Given the description of an element on the screen output the (x, y) to click on. 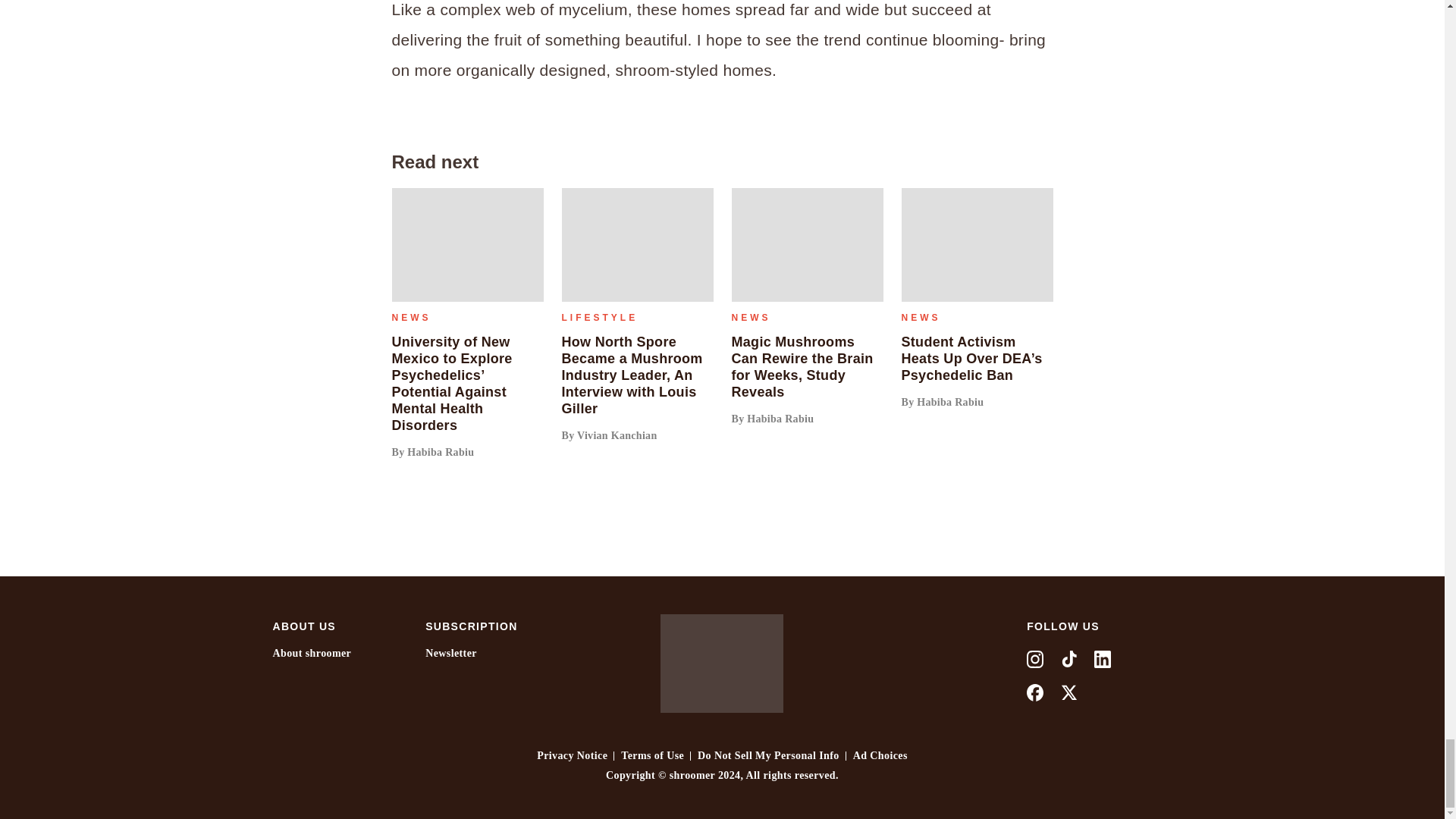
Follow us on Instagram (1034, 657)
Habiba Rabiu (440, 451)
Follow us on Linkedin (1102, 657)
Follow us on Tiktok (1069, 657)
Follow us on Facebook (1034, 690)
NEWS (410, 317)
